Given the description of an element on the screen output the (x, y) to click on. 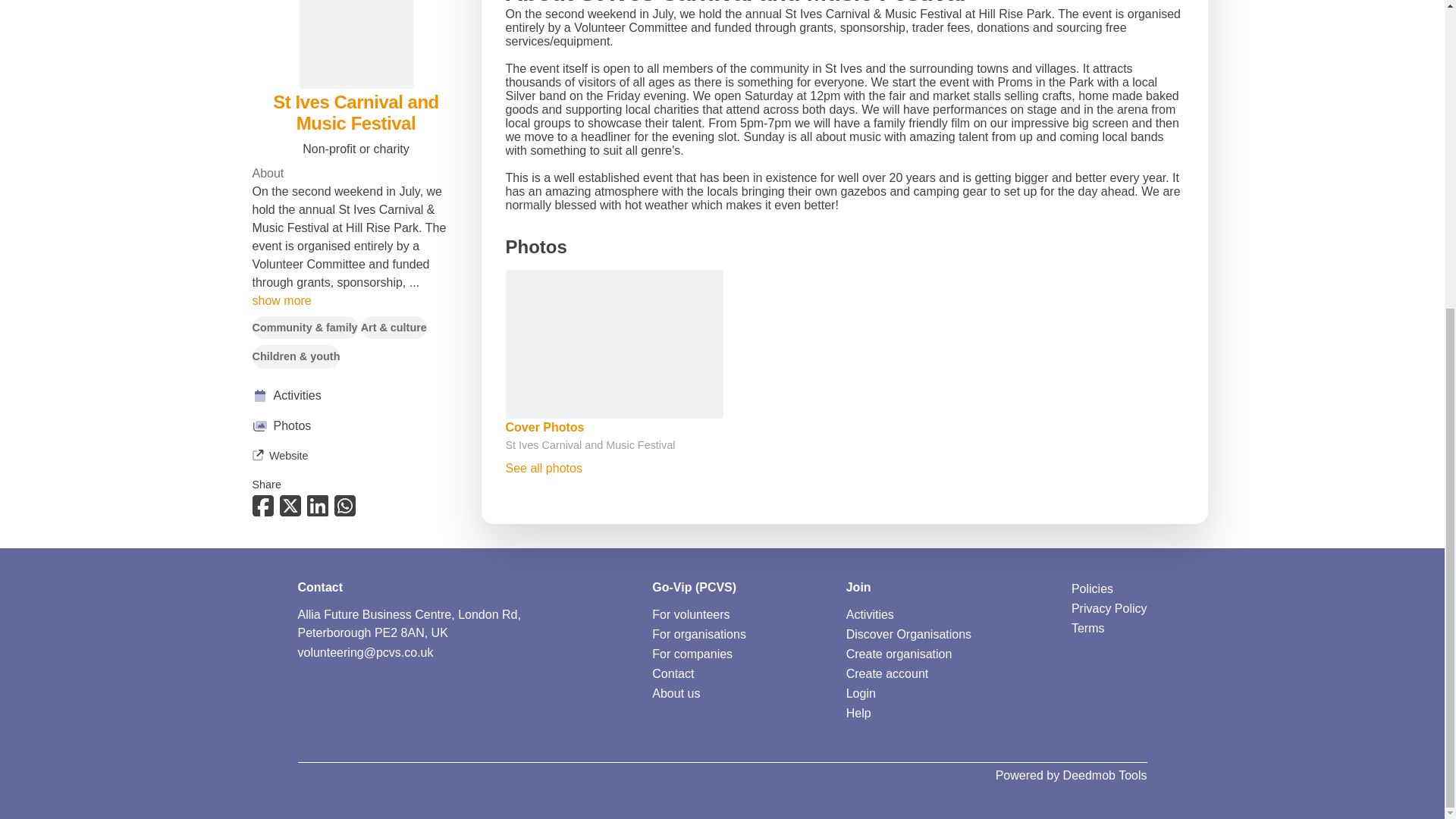
See all photos (542, 468)
Cover Photos (544, 427)
Website (279, 164)
Photos (355, 135)
For organisations (698, 634)
Contact (673, 673)
Help (857, 712)
For volunteers (690, 614)
Create account (886, 673)
Activities (869, 614)
